Given the description of an element on the screen output the (x, y) to click on. 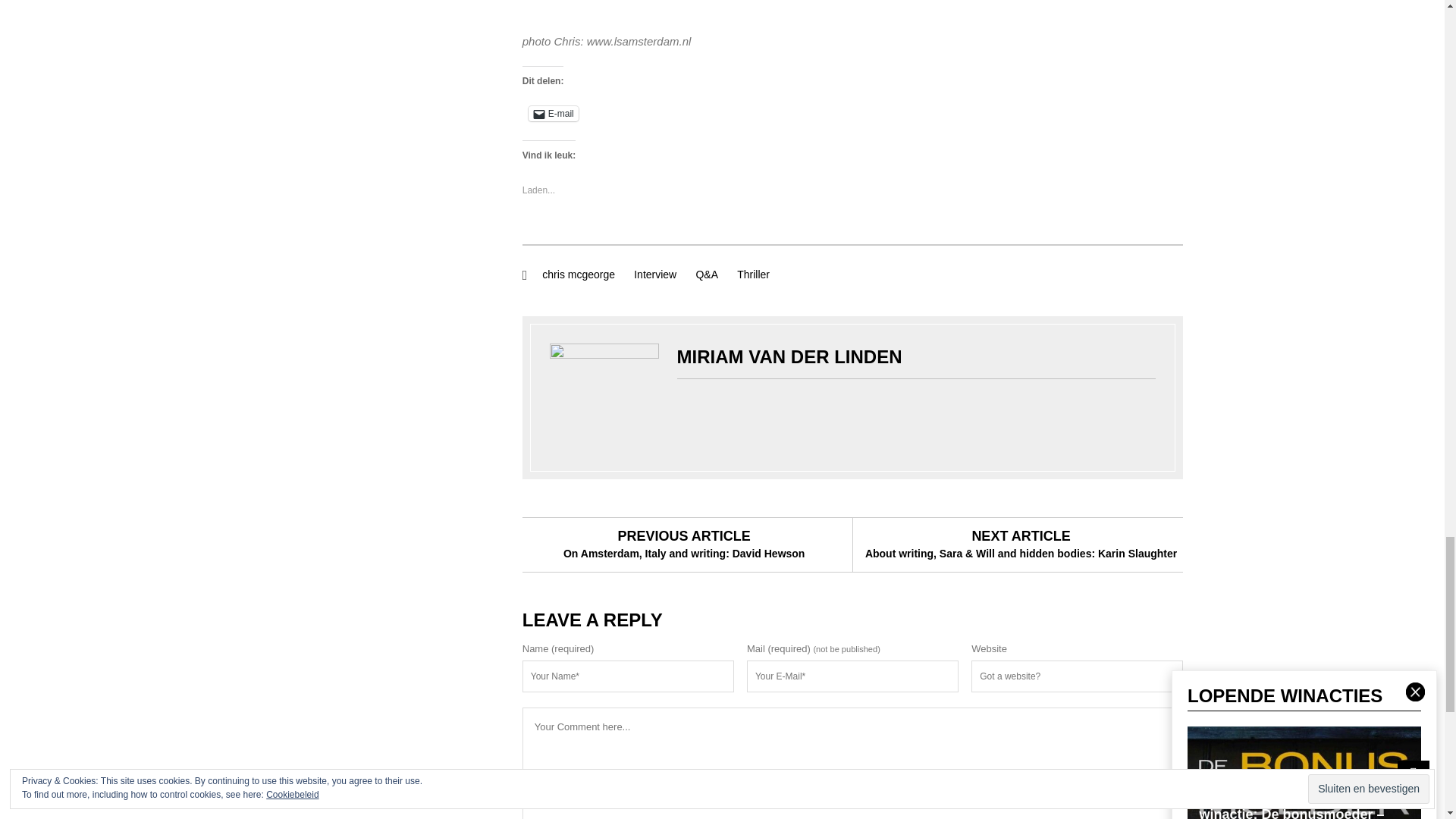
Berichten van Miriam van der Linden (789, 355)
Klik om dit te e-mailen naar een vriend (553, 113)
E-mail (553, 113)
